Given the description of an element on the screen output the (x, y) to click on. 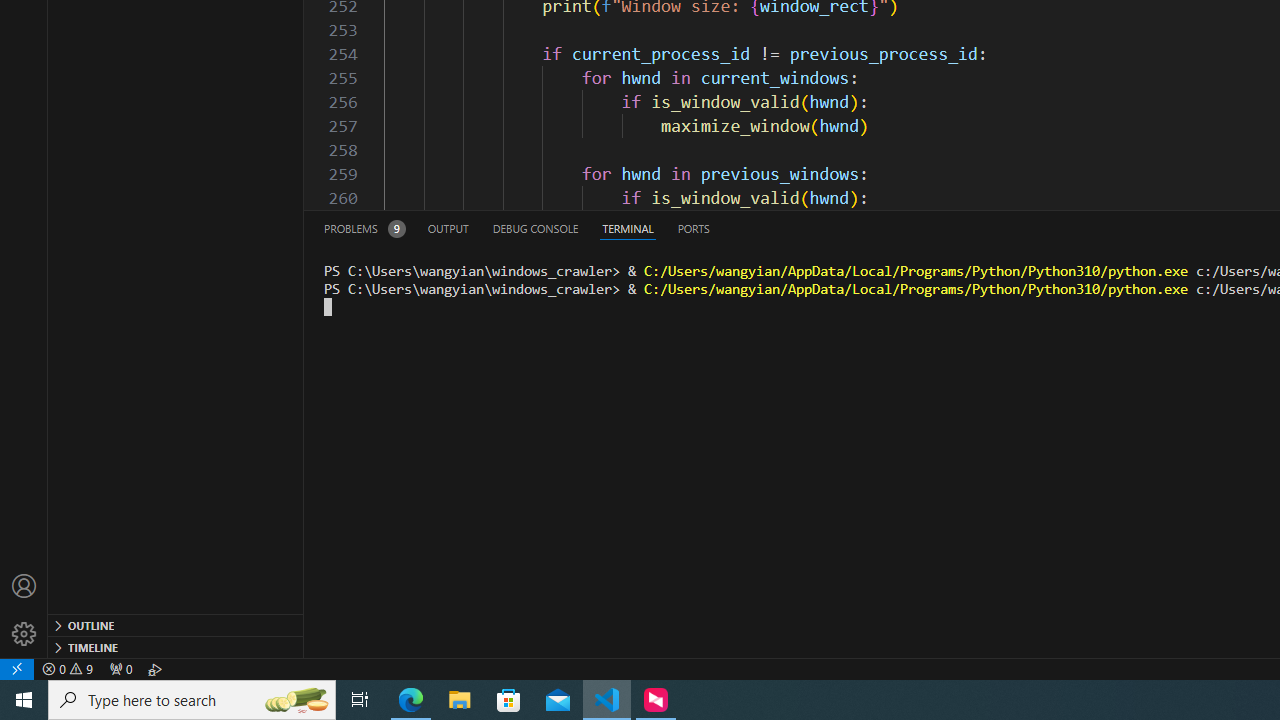
Ports (693, 228)
Problems (Ctrl+Shift+M) - Total 9 Problems (364, 228)
Debug Console (Ctrl+Shift+Y) (535, 228)
remote (17, 668)
Accounts (24, 585)
Outline Section (175, 624)
Debug:  (155, 668)
Output (Ctrl+Shift+U) (447, 228)
Timeline Section (175, 646)
Warnings: 9 (67, 668)
No Ports Forwarded (120, 668)
Terminal (Ctrl+`) (627, 228)
